Given the description of an element on the screen output the (x, y) to click on. 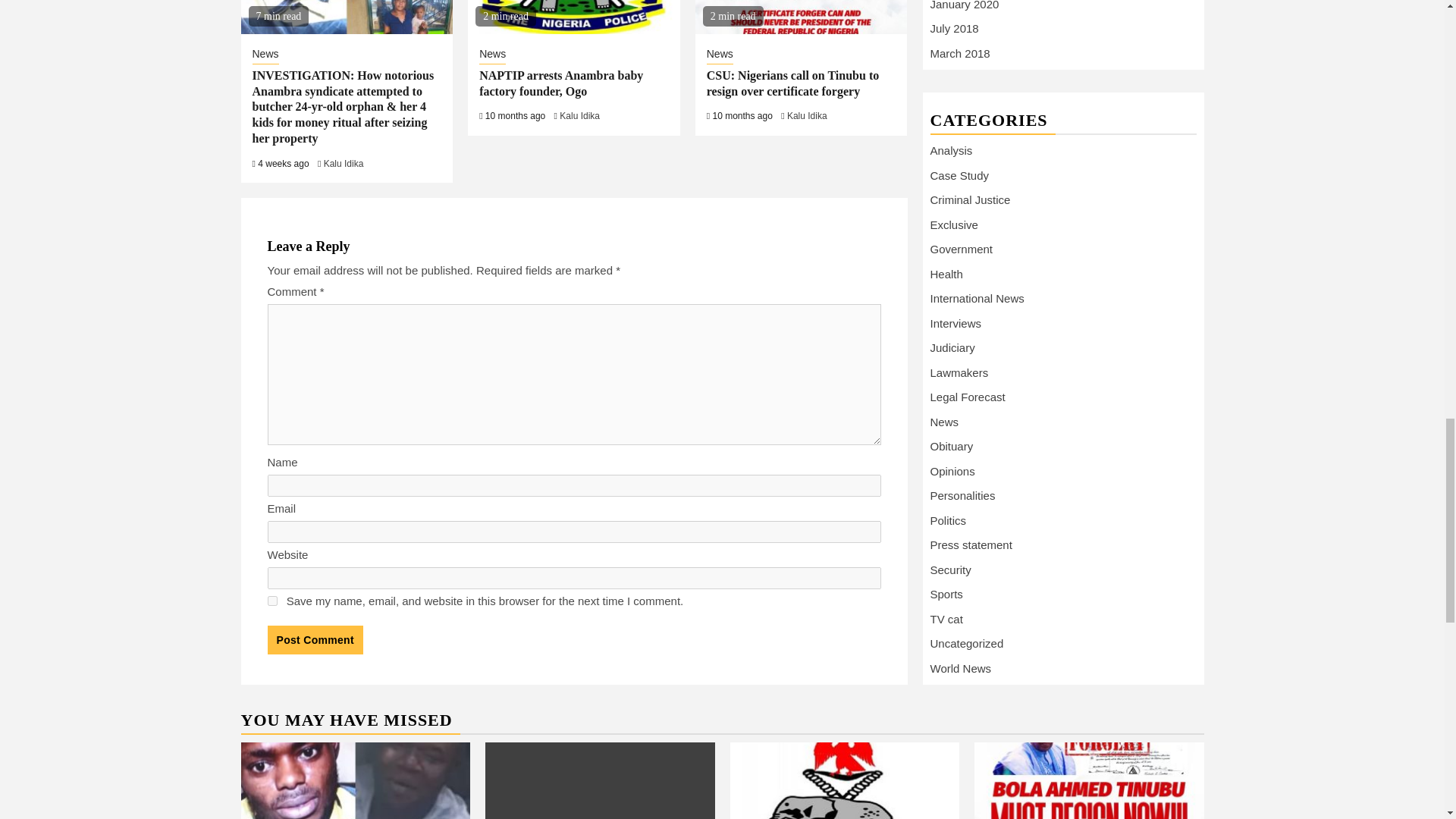
Post Comment (314, 639)
yes (271, 601)
